Given the description of an element on the screen output the (x, y) to click on. 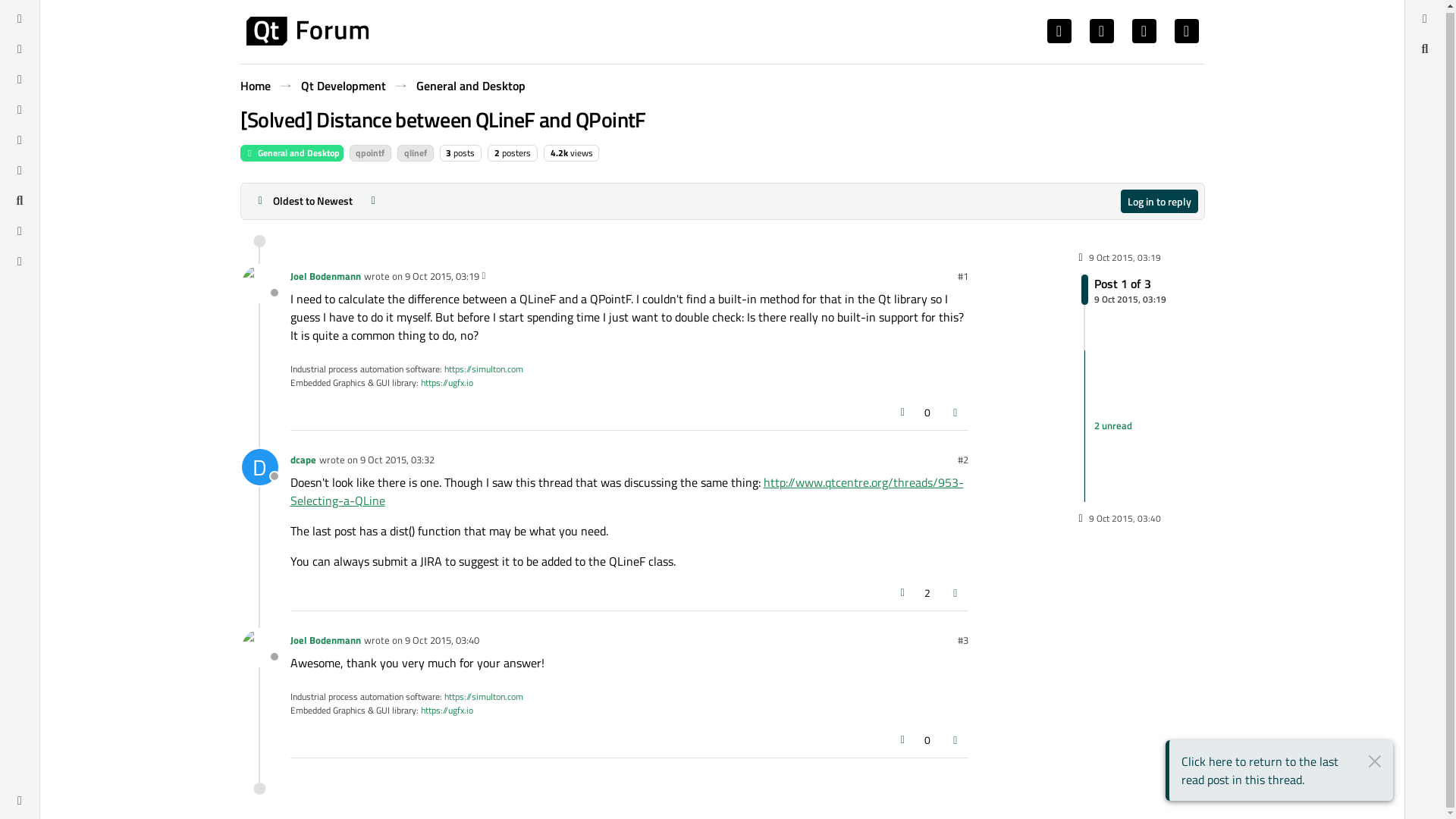
2 (497, 152)
4199 (558, 152)
Joel Bodenmann (1123, 289)
9 Oct 2015, 03:19 (324, 275)
qpointf (441, 275)
Offline (370, 152)
9 Oct 2015, 03:19 (259, 283)
Brand Logo (441, 275)
General and Desktop (307, 30)
General and Desktop (1126, 388)
Qt Development (291, 152)
3 (469, 85)
Joel Bodenmann (342, 85)
